Given the description of an element on the screen output the (x, y) to click on. 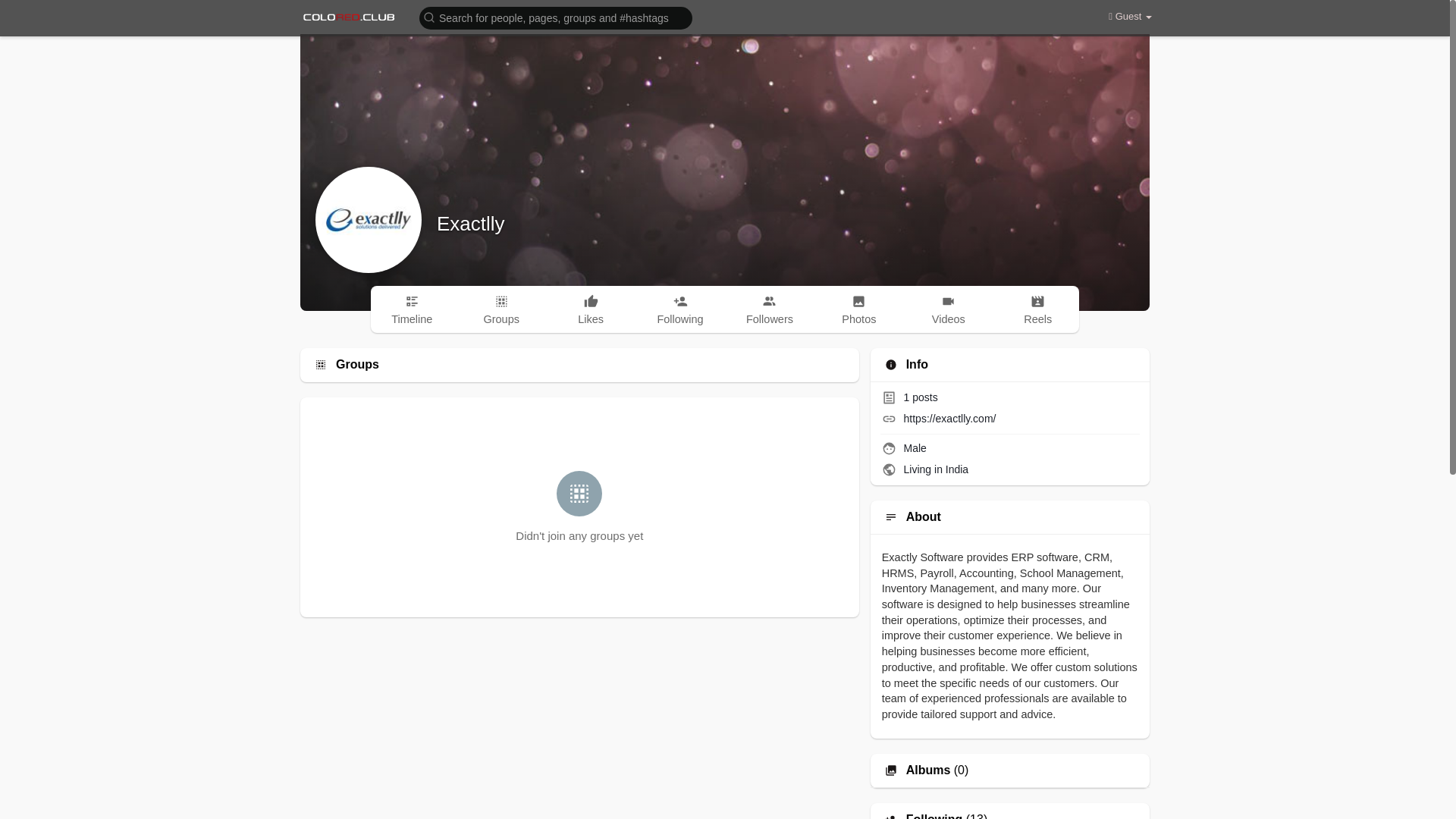
Guest (1129, 17)
Exactlly (470, 223)
Reels (1037, 308)
Groups (500, 308)
Followers (769, 308)
Timeline (411, 308)
Albums (927, 770)
Videos (948, 308)
Photos (858, 308)
Following (679, 308)
Following (933, 816)
Likes (590, 308)
